Given the description of an element on the screen output the (x, y) to click on. 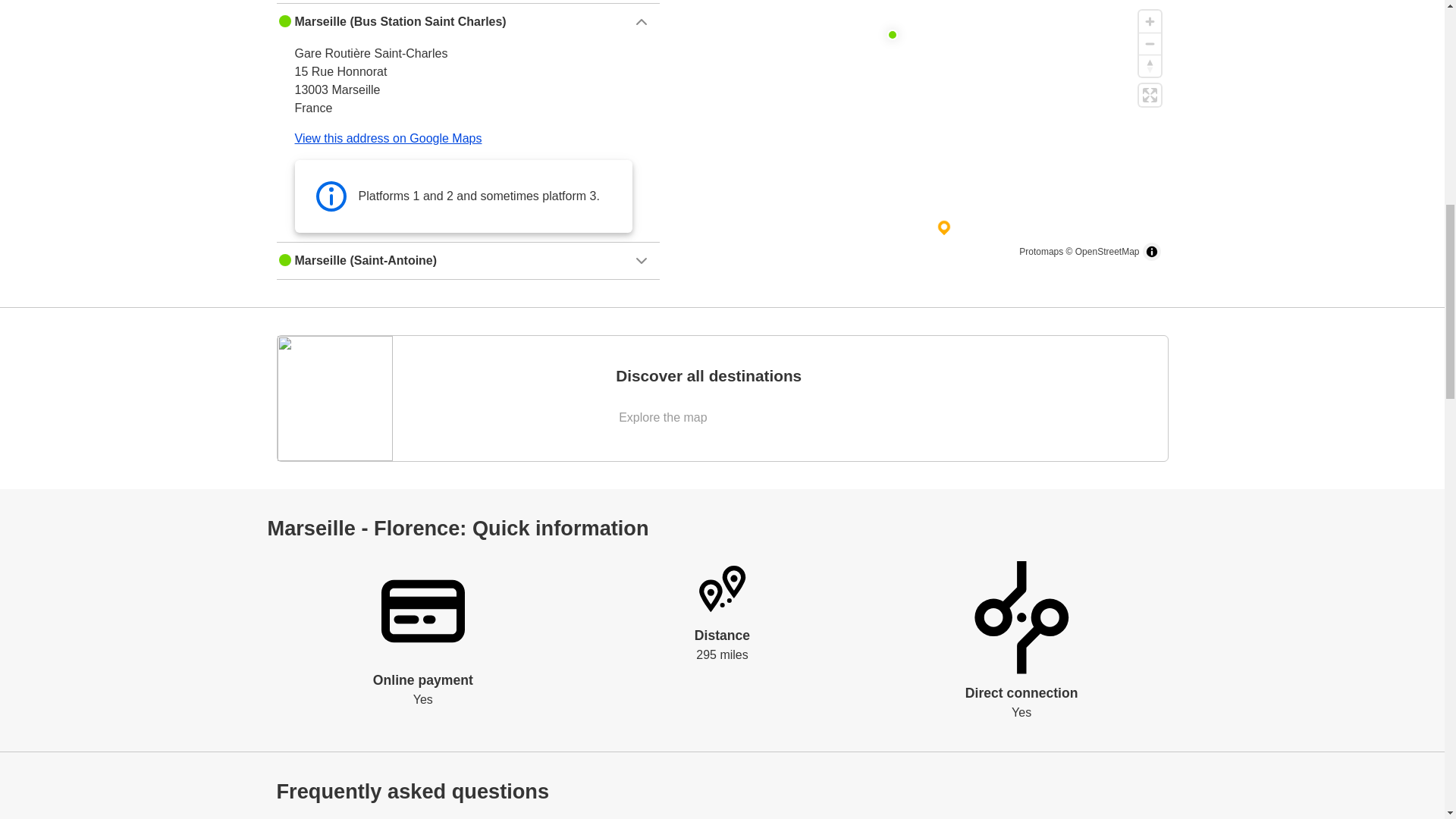
Protomaps (1040, 251)
Zoom out (1149, 43)
Toggle attribution (1150, 251)
Zoom in (1149, 21)
Enter fullscreen (1149, 95)
OpenStreetMap (1107, 251)
View this address on Google Maps (388, 137)
Reset bearing to north (1149, 65)
